Given the description of an element on the screen output the (x, y) to click on. 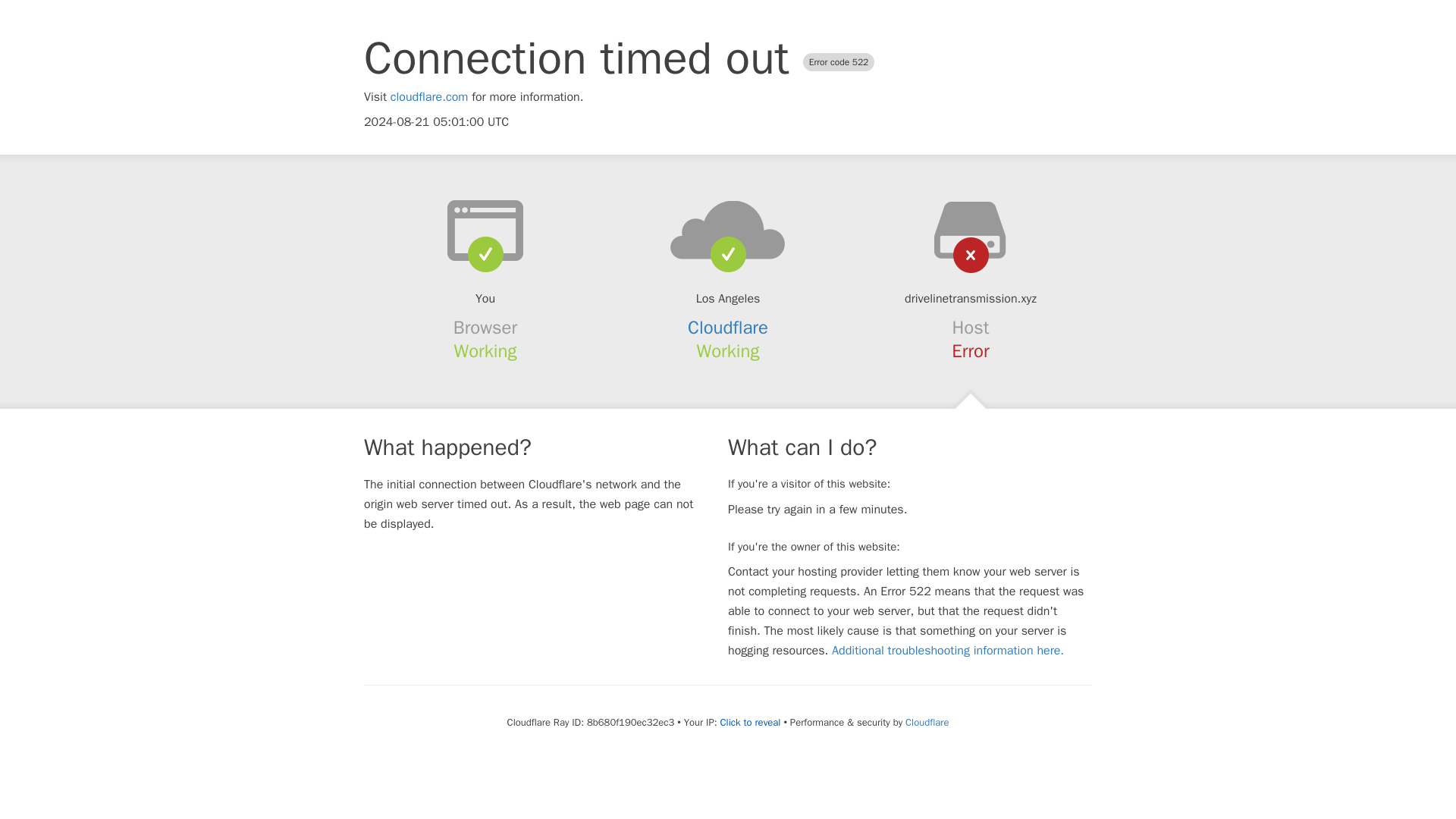
cloudflare.com (429, 96)
Click to reveal (750, 722)
Cloudflare (727, 327)
Cloudflare (927, 721)
Additional troubleshooting information here. (947, 650)
